Given the description of an element on the screen output the (x, y) to click on. 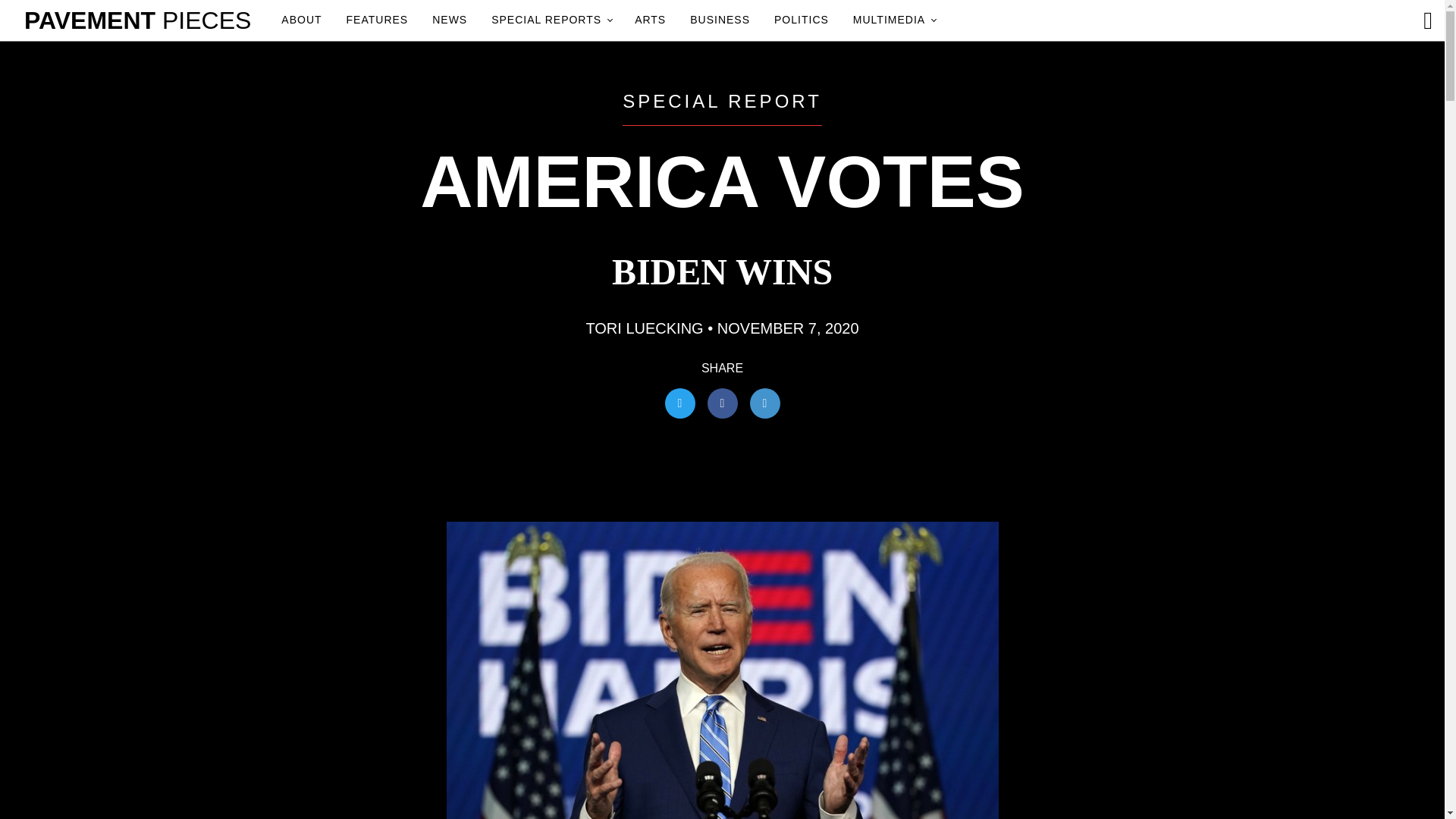
Share to Twitter (678, 403)
ARTS (649, 20)
MULTIMEDIA (893, 20)
Email this article (763, 403)
BUSINESS (719, 20)
FEATURES (377, 20)
POLITICS (801, 20)
SPECIAL REPORTS (549, 20)
PAVEMENT PIECES (137, 20)
Share to Facebook (721, 403)
